Given the description of an element on the screen output the (x, y) to click on. 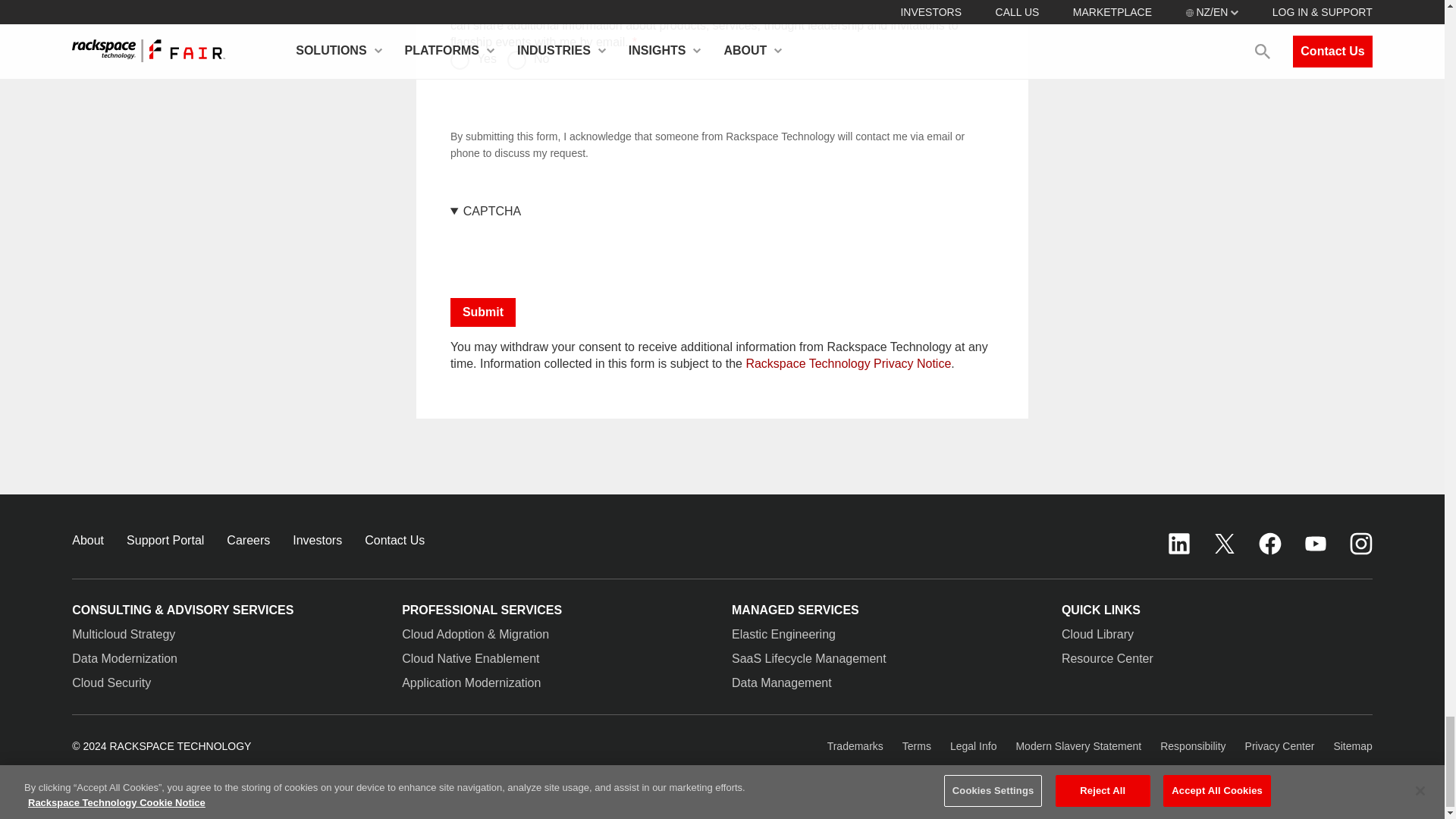
0 (458, 59)
Submit (482, 312)
1 (515, 59)
